Given the description of an element on the screen output the (x, y) to click on. 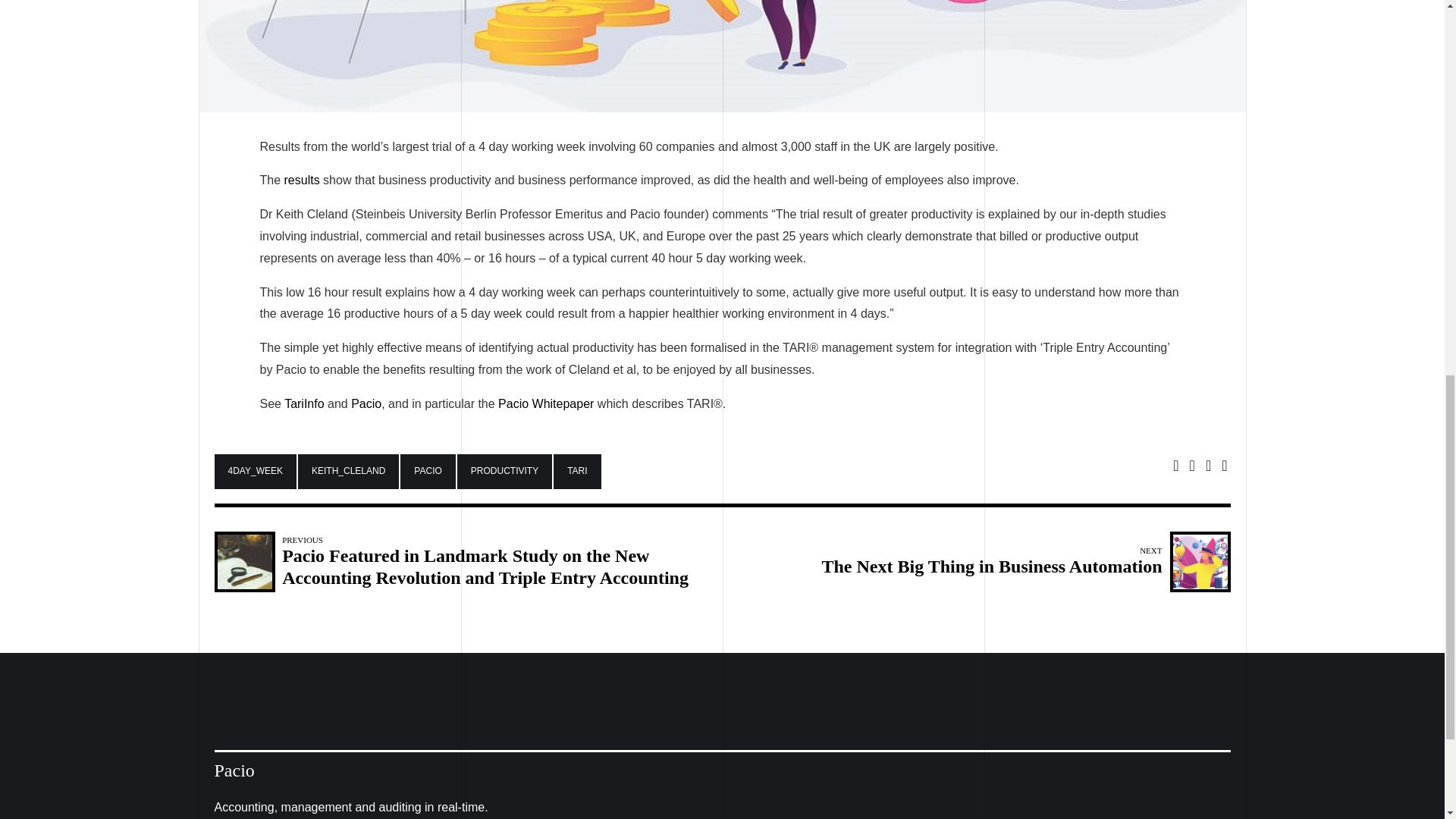
results (301, 179)
Pacio (365, 403)
TariInfo (1021, 561)
TARI (303, 403)
PRODUCTIVITY (576, 471)
PACIO (504, 471)
Pacio Whitepaper (427, 471)
